Given the description of an element on the screen output the (x, y) to click on. 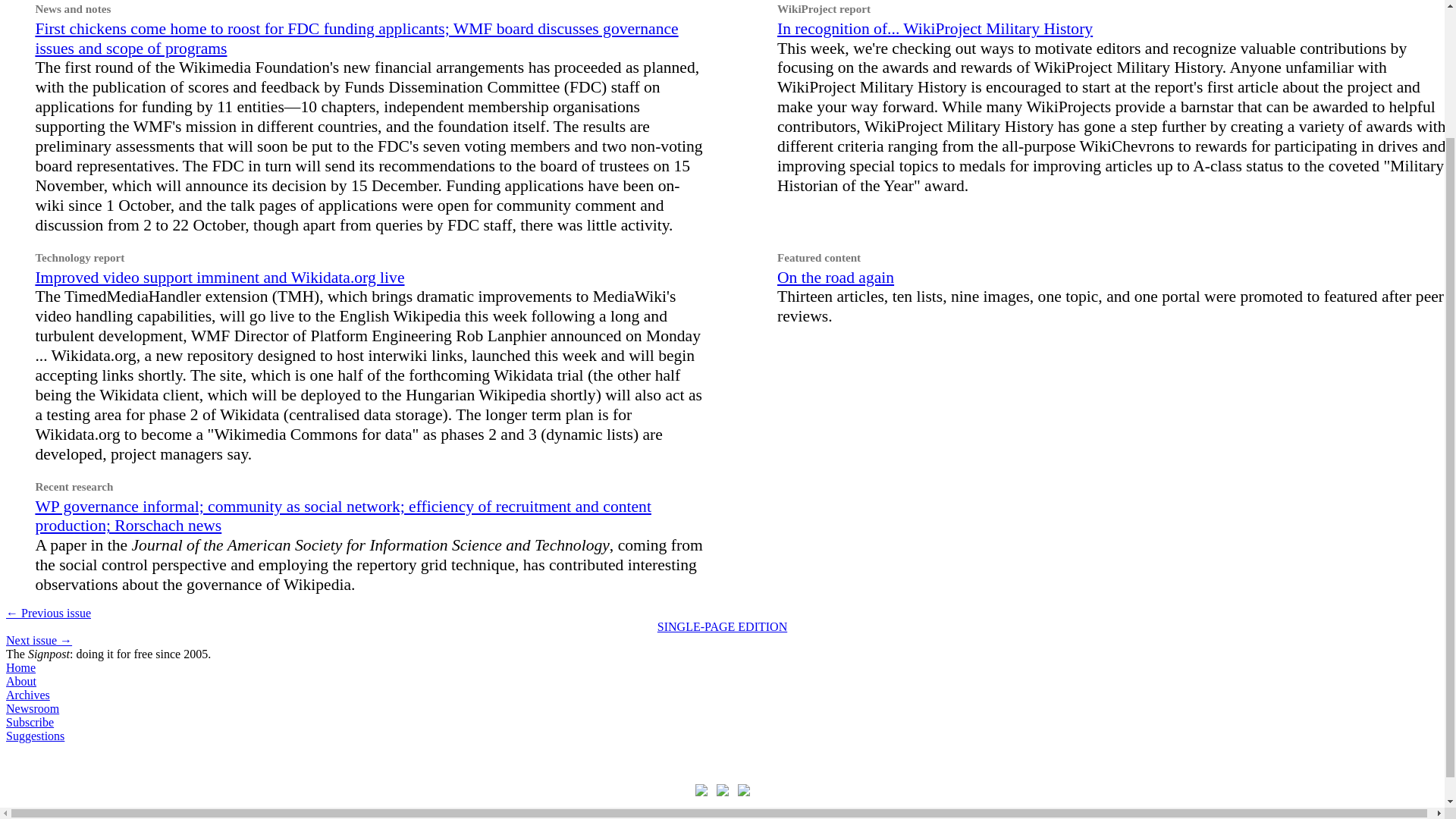
Newsroom (32, 707)
SINGLE-PAGE EDITION (722, 626)
Improved video support imminent and Wikidata.org live (219, 277)
Suggestions (34, 735)
Subscribe (29, 721)
Wikipedia:Wikipedia Signpost (19, 667)
On the road again (835, 277)
Home (19, 667)
In recognition of... WikiProject Military History (935, 28)
